Given the description of an element on the screen output the (x, y) to click on. 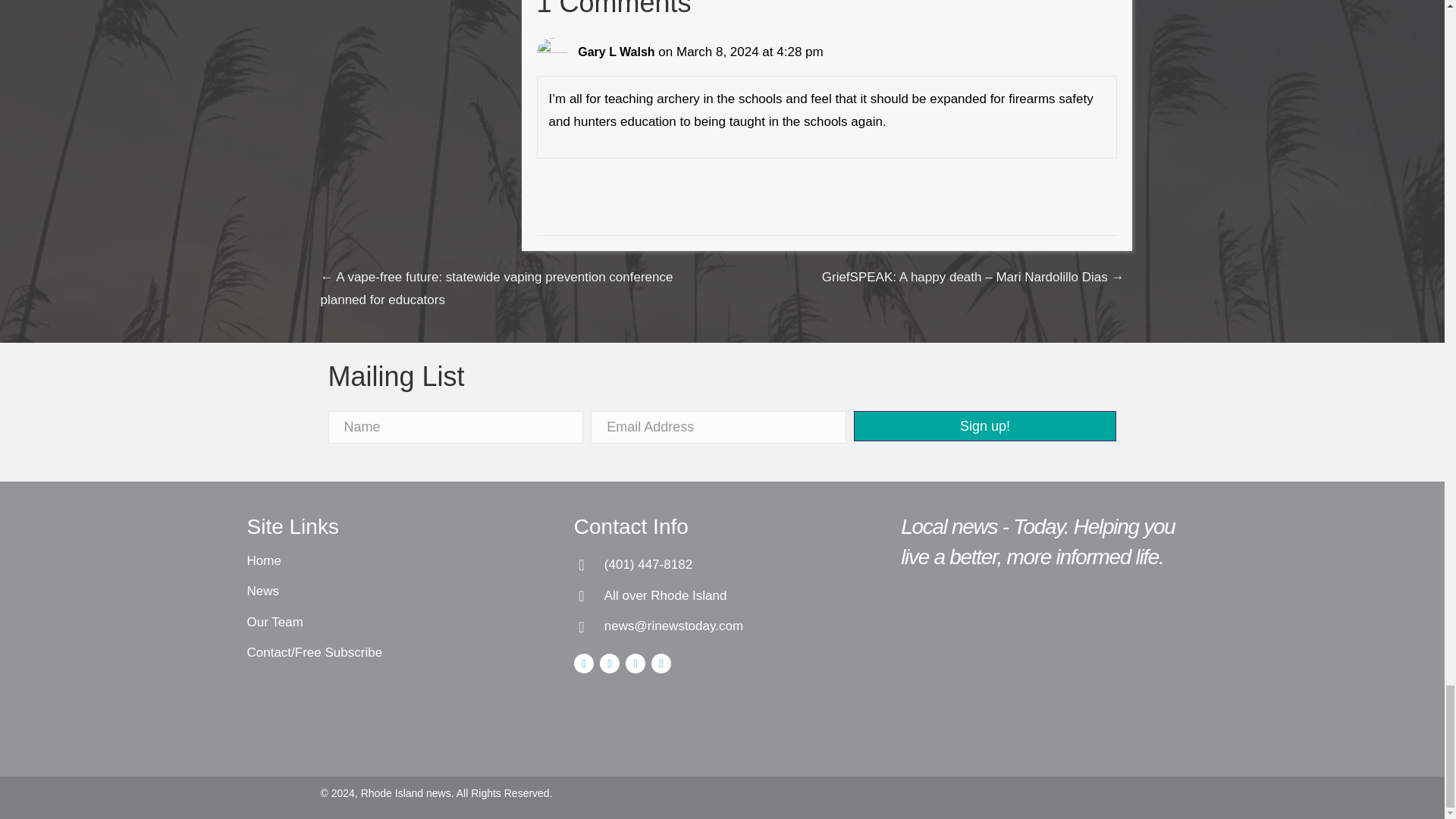
Screen Shot 2023-10-01 at 5.48.50 AM (1158, 628)
Lion (940, 629)
SPJ New England (1044, 712)
SPJ (1045, 626)
